Given the description of an element on the screen output the (x, y) to click on. 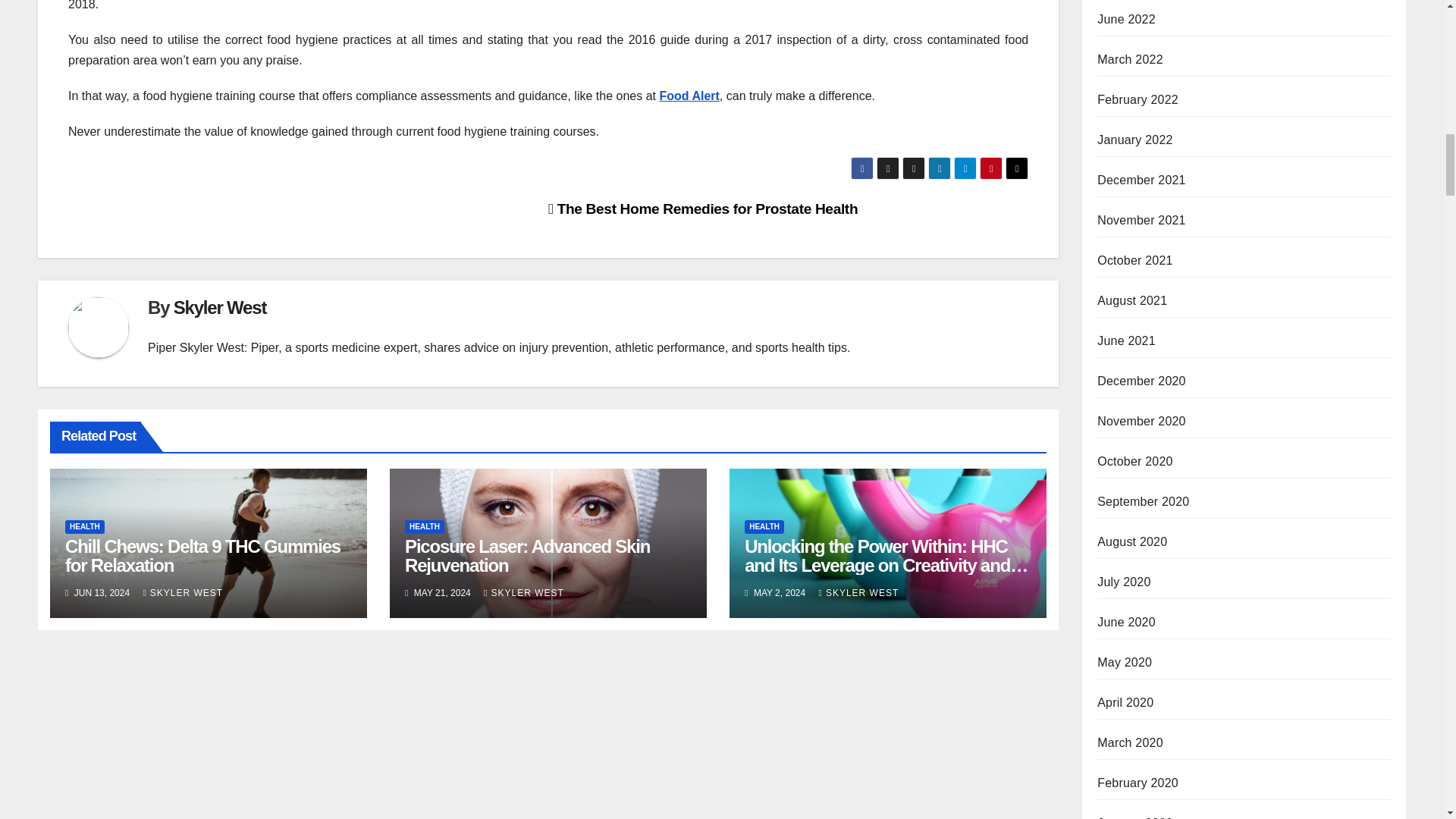
SKYLER WEST (182, 593)
Chill Chews: Delta 9 THC Gummies for Relaxation (202, 555)
The Best Home Remedies for Prostate Health (702, 208)
HEALTH (84, 526)
Skyler West (219, 307)
Permalink to: Picosure Laser: Advanced Skin Rejuvenation (526, 555)
Food Alert (689, 95)
